Given the description of an element on the screen output the (x, y) to click on. 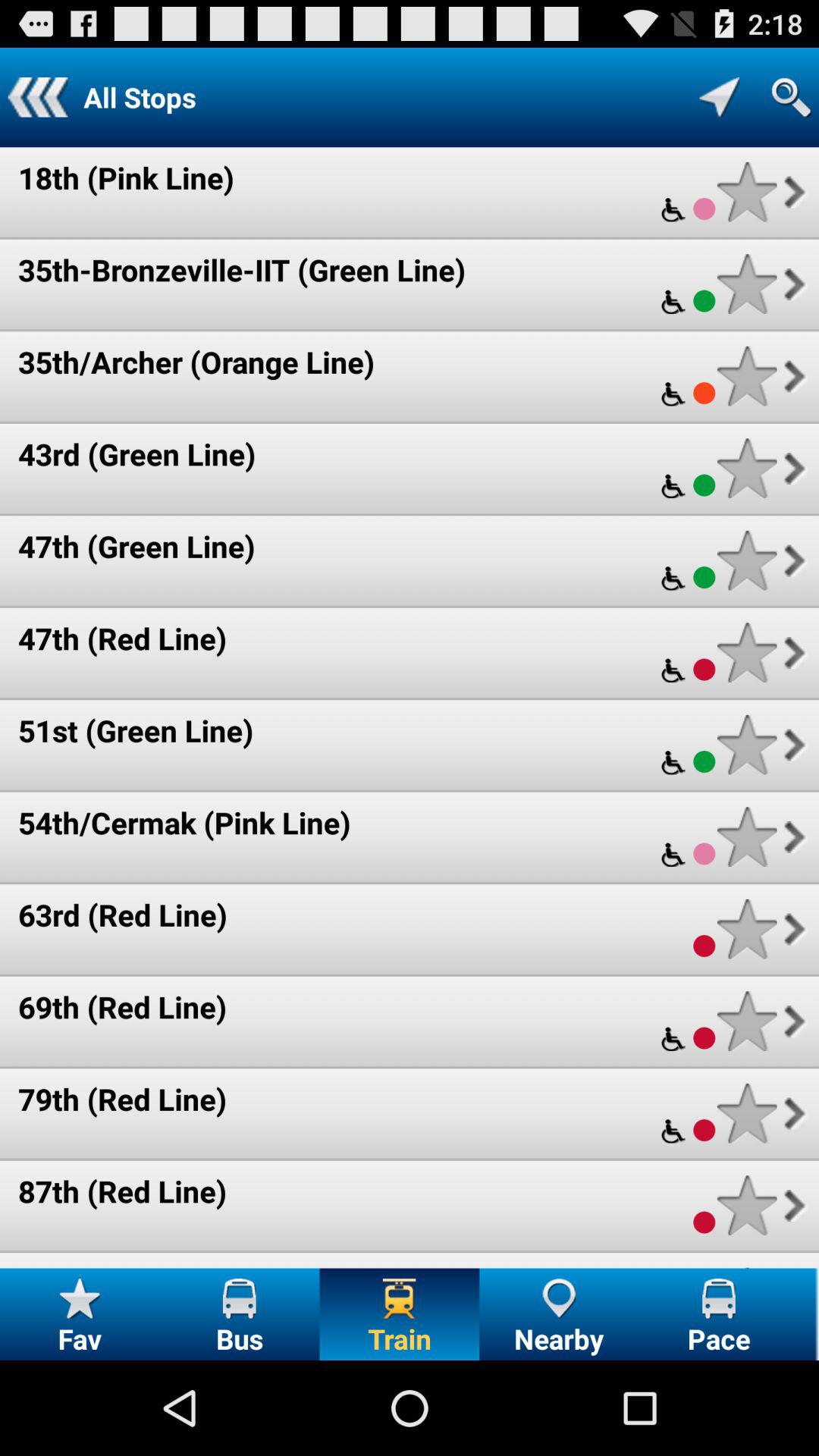
add to favorities (746, 1021)
